Given the description of an element on the screen output the (x, y) to click on. 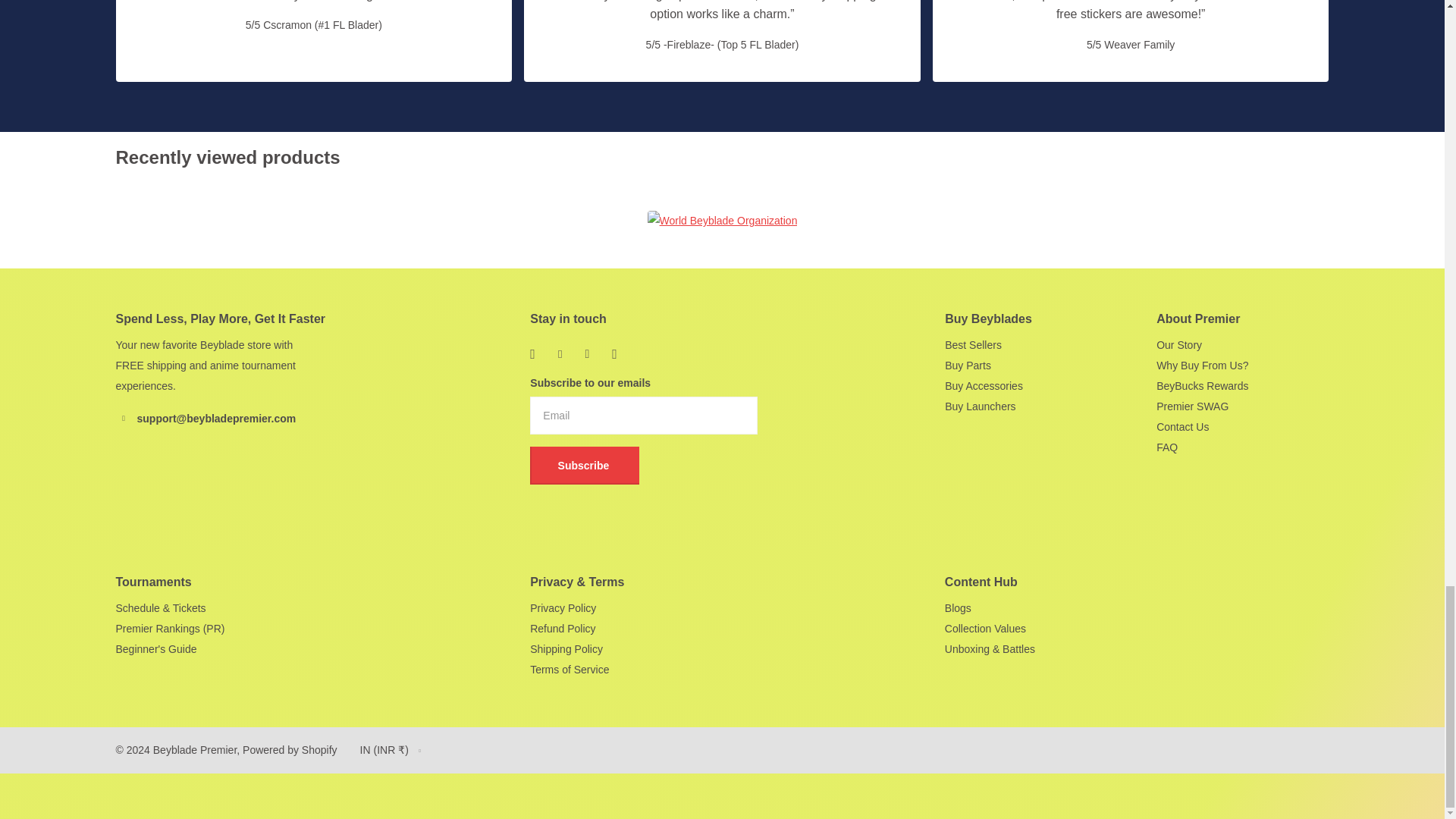
Why Buy From Us? (1201, 365)
Best Sellers (972, 345)
Contact Us (1182, 426)
Buy Launchers (979, 406)
Buy Accessories (983, 386)
Our Story (1179, 345)
FAQ (1166, 447)
Buy Parts (967, 365)
Premier SWAG (1192, 406)
BeyBucks Rewards (1201, 386)
